Given the description of an element on the screen output the (x, y) to click on. 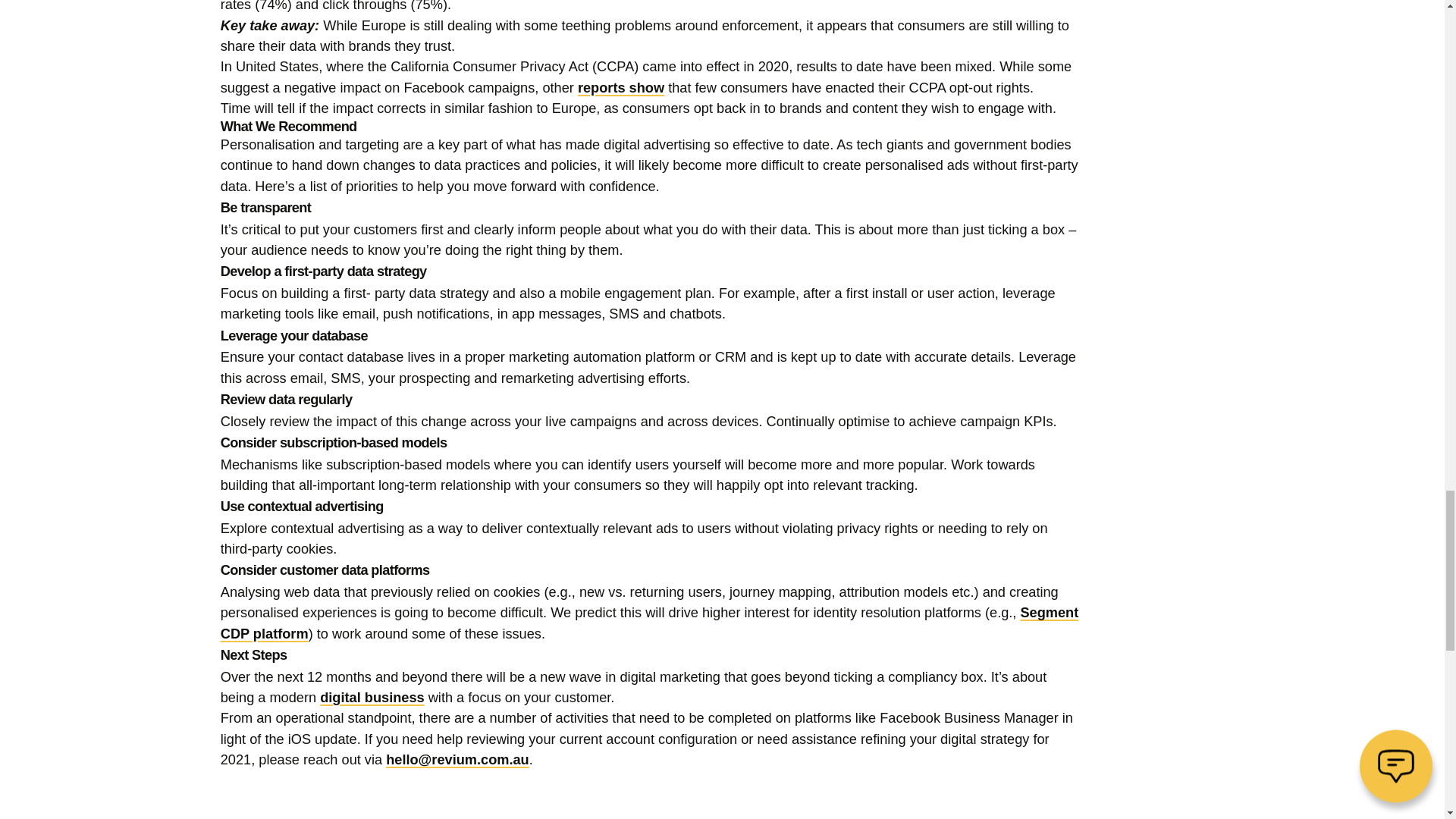
Segment CDP platform (649, 622)
reports show (620, 87)
digital business (371, 697)
